Given the description of an element on the screen output the (x, y) to click on. 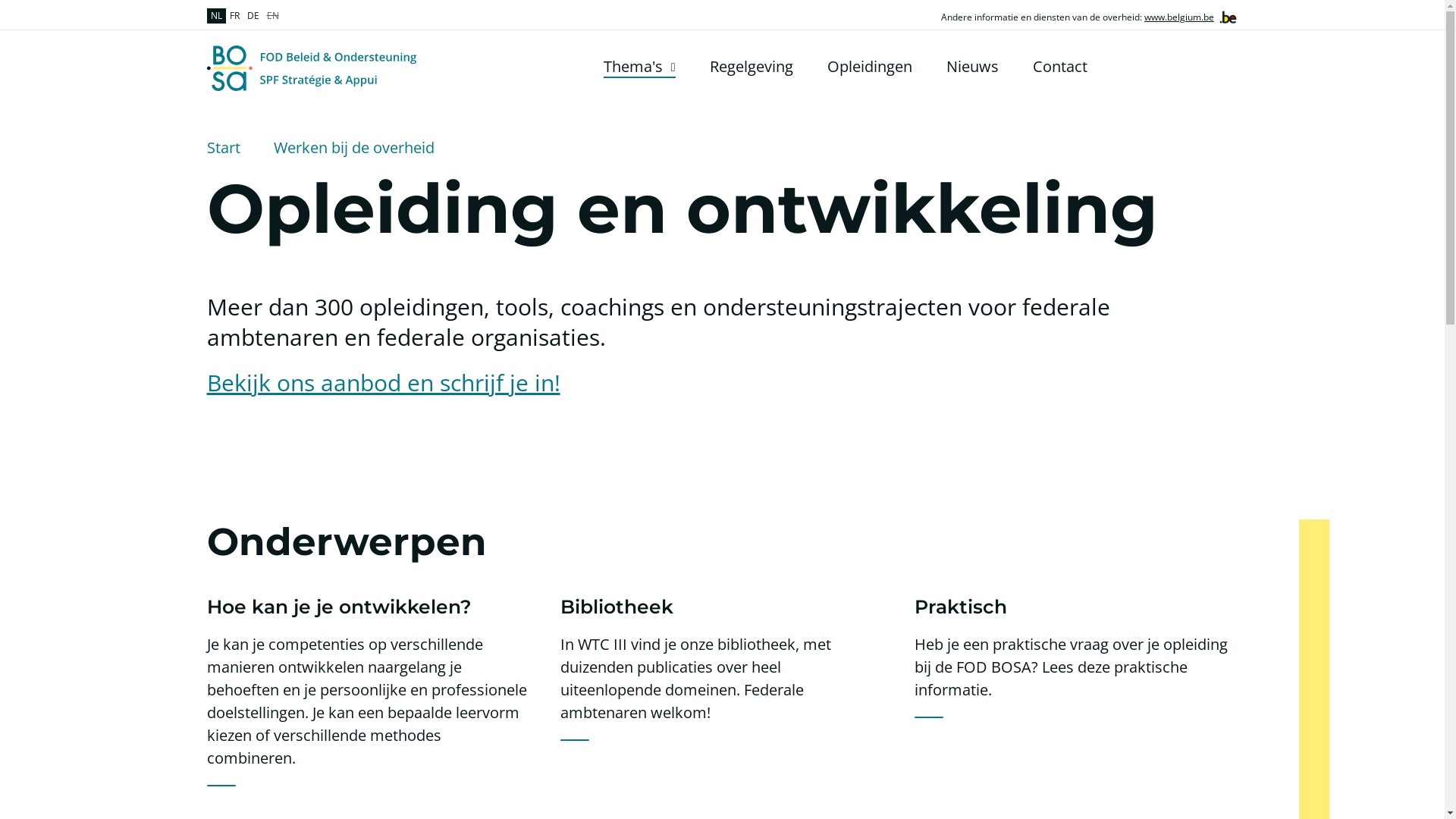
Opleidingen Element type: text (868, 66)
Overslaan en naar de inhoud gaan Element type: text (7, 4)
www.belgium.be Element type: text (1179, 16)
Contact Element type: text (1059, 66)
Thema's Element type: text (639, 66)
Regelgeving Element type: text (751, 66)
Toepassen Element type: text (1228, 66)
Bekijk ons aanbod en schrijf je in! Element type: text (382, 382)
Start Element type: text (222, 147)
DE Element type: text (252, 15)
Werken bij de overheid Element type: text (353, 147)
FR Element type: text (234, 15)
Back to BOSA home page Element type: hover (311, 68)
Nieuws Element type: text (972, 66)
NL Element type: text (215, 15)
